Given the description of an element on the screen output the (x, y) to click on. 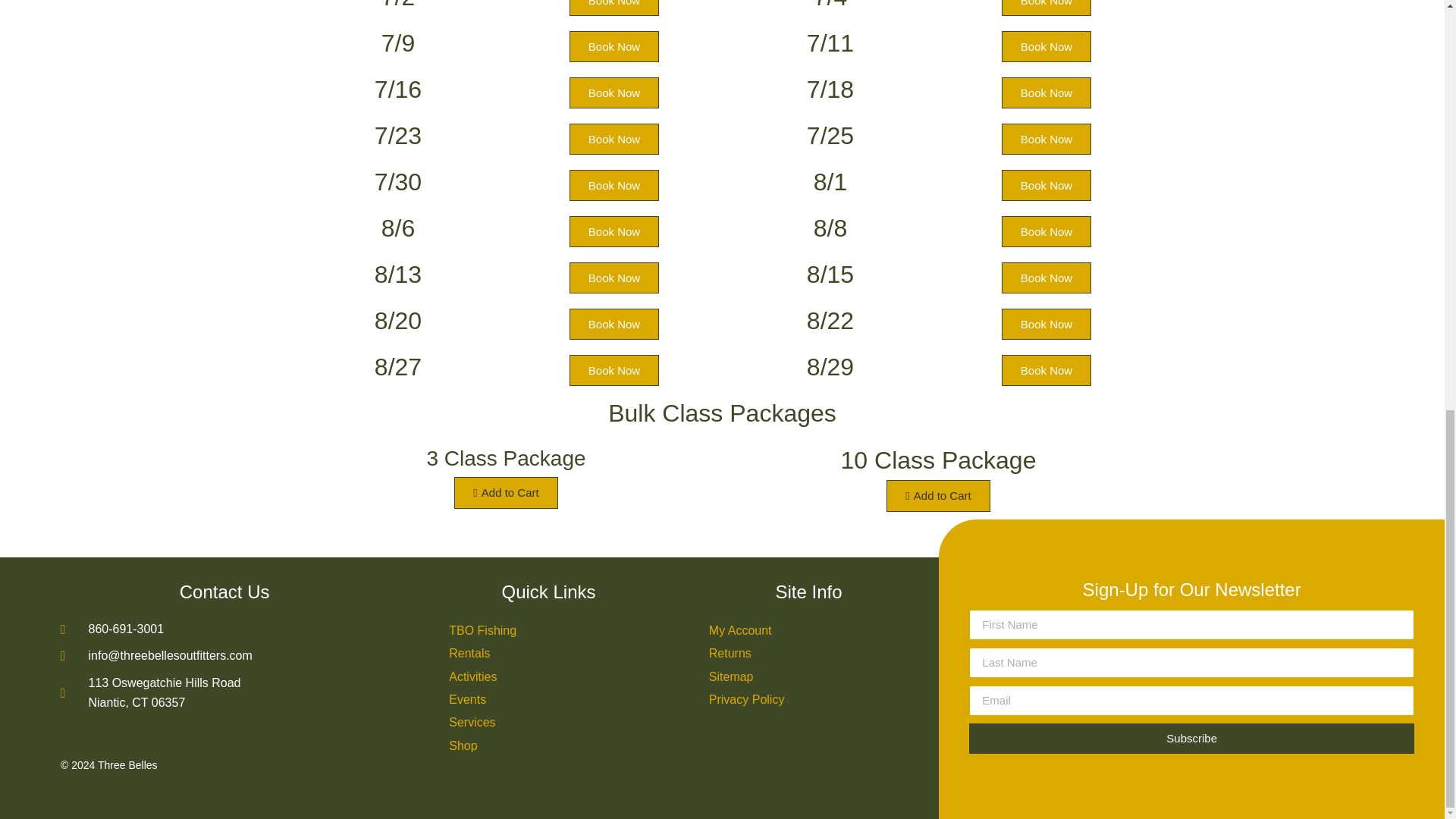
Book Now (1045, 369)
Book Now (614, 46)
Book Now (1045, 46)
Book Now (614, 138)
Book Now (1045, 277)
Book Now (1045, 138)
Book Now (614, 369)
Book Now (614, 7)
Book Now (614, 277)
Book Now (614, 184)
Book Now (1045, 92)
Add to Cart (938, 495)
Book Now (614, 231)
Add to Cart (505, 492)
Book Now (1045, 323)
